Given the description of an element on the screen output the (x, y) to click on. 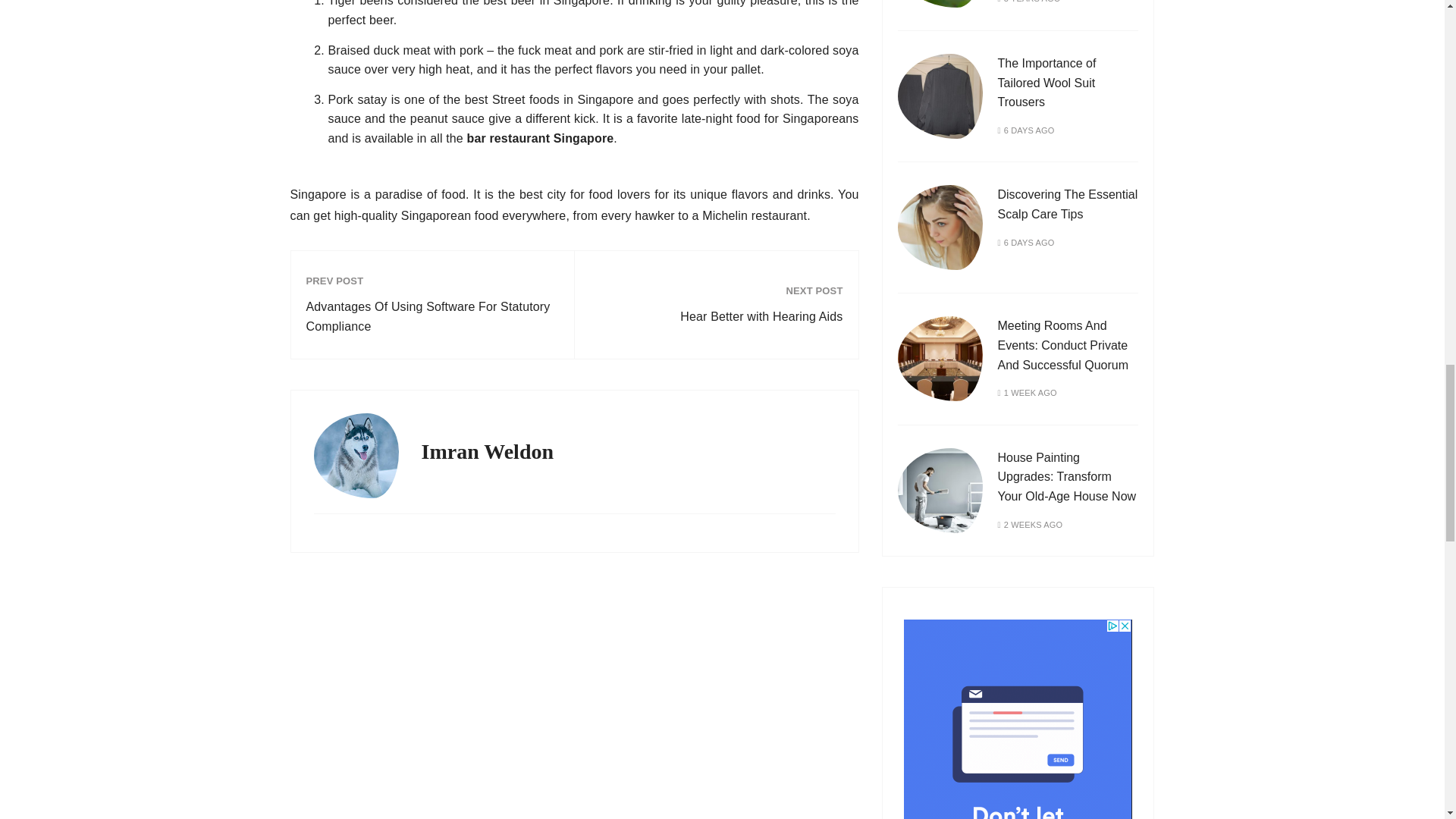
Hear Better with Hearing Aids (716, 316)
Advantages Of Using Software For Statutory Compliance (432, 316)
